Given the description of an element on the screen output the (x, y) to click on. 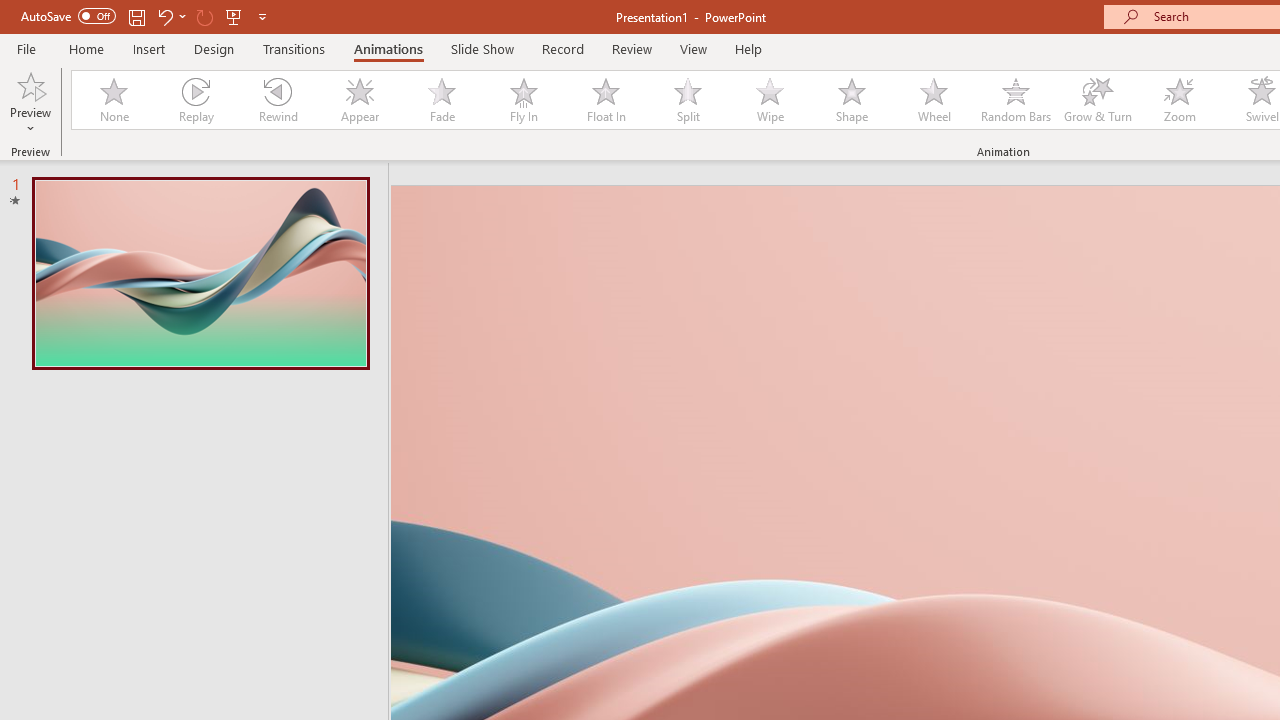
Wheel (934, 100)
Random Bars (1016, 100)
Rewind (277, 100)
Replay (195, 100)
Appear (359, 100)
Float In (605, 100)
